Given the description of an element on the screen output the (x, y) to click on. 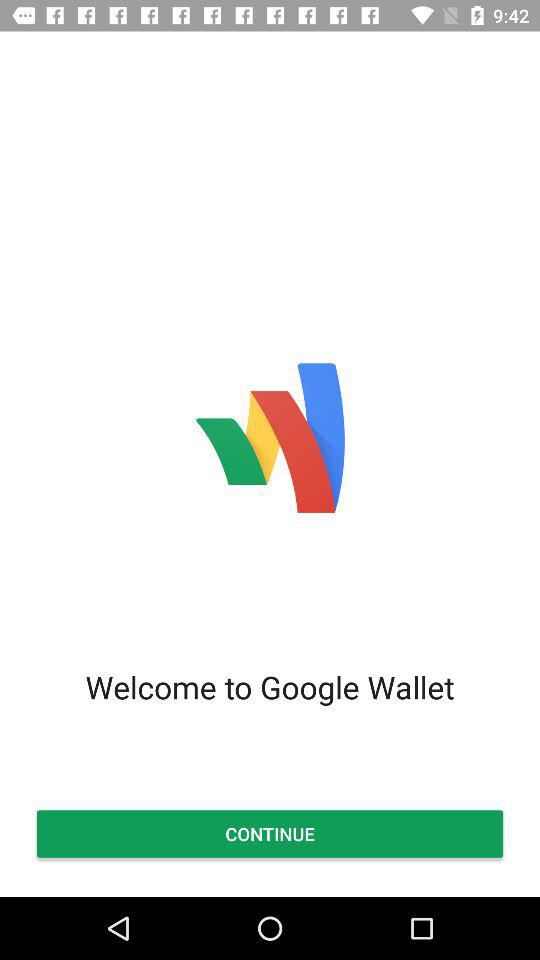
choose the item below the welcome to google (269, 833)
